Given the description of an element on the screen output the (x, y) to click on. 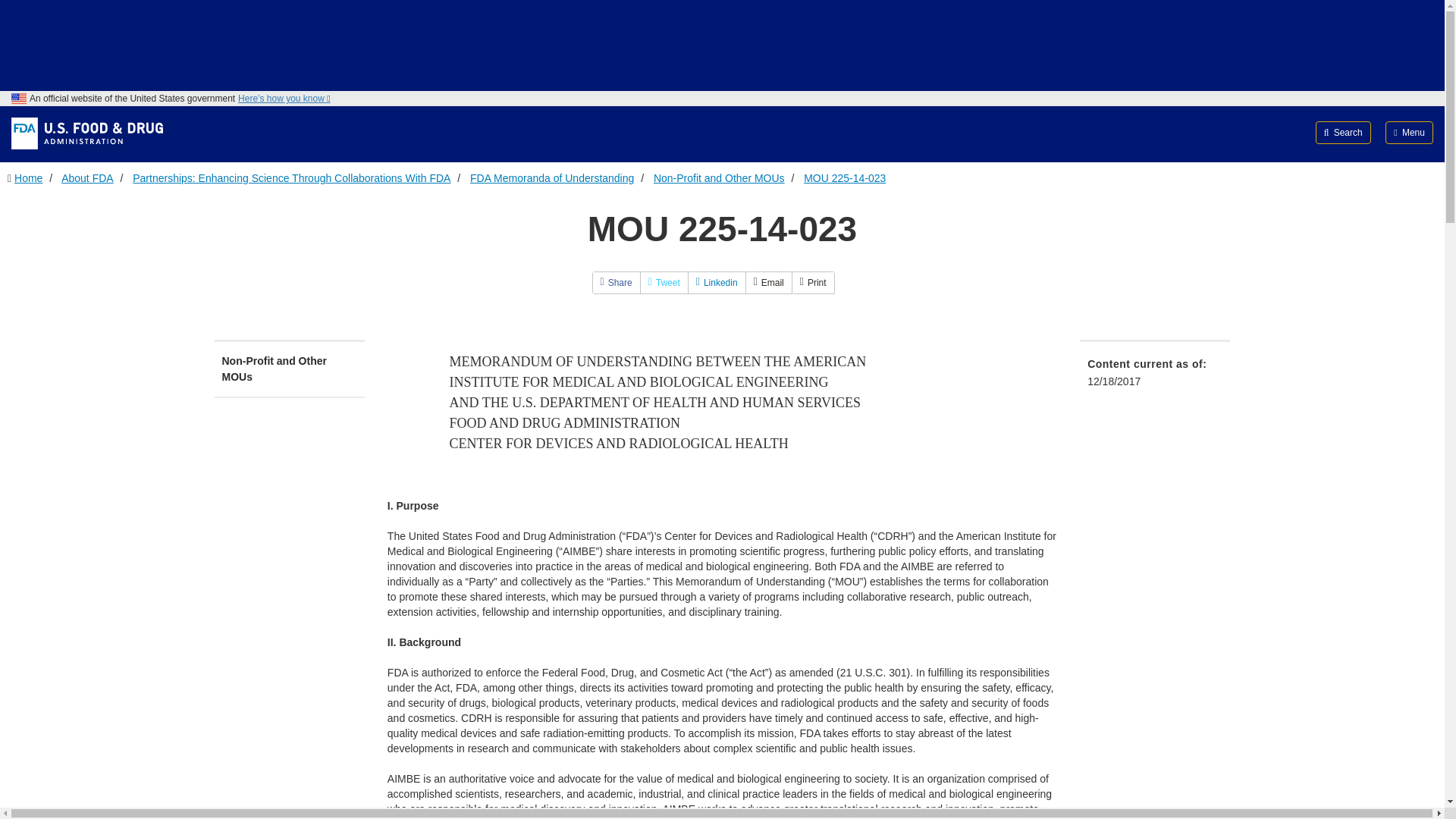
  Search (1343, 132)
Print this page (813, 282)
  Menu (1409, 132)
